Given the description of an element on the screen output the (x, y) to click on. 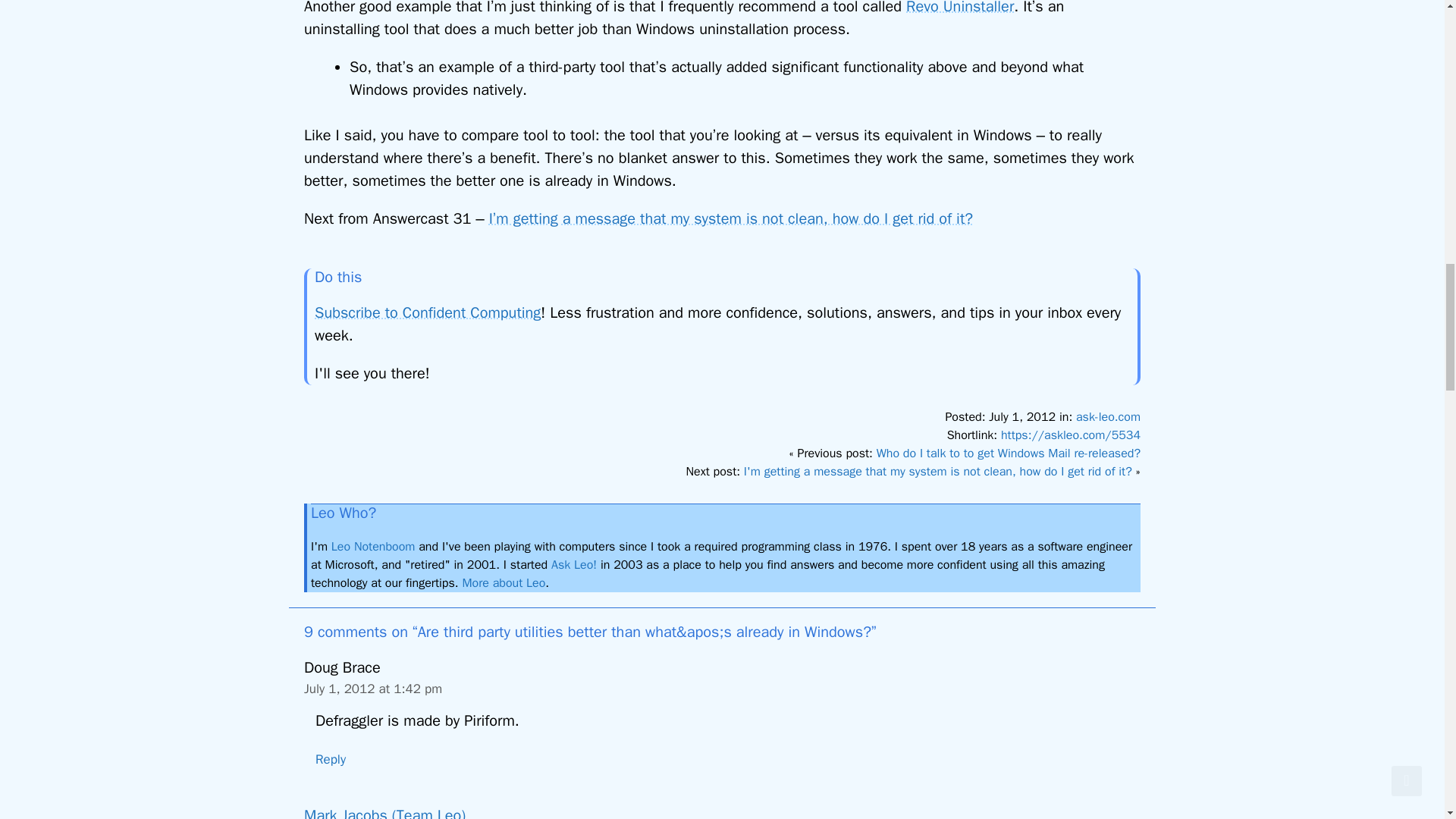
July 1, 2012 at 1:42 pm (373, 688)
Leo Notenboom (372, 546)
Revo Uninstaller (959, 7)
Ask Leo! (573, 564)
Subscribe to Confident Computing (427, 312)
ask-leo.com (1107, 417)
More about Leo (502, 582)
Who do I talk to to get Windows Mail re-released? (1008, 453)
Reply (330, 759)
